Given the description of an element on the screen output the (x, y) to click on. 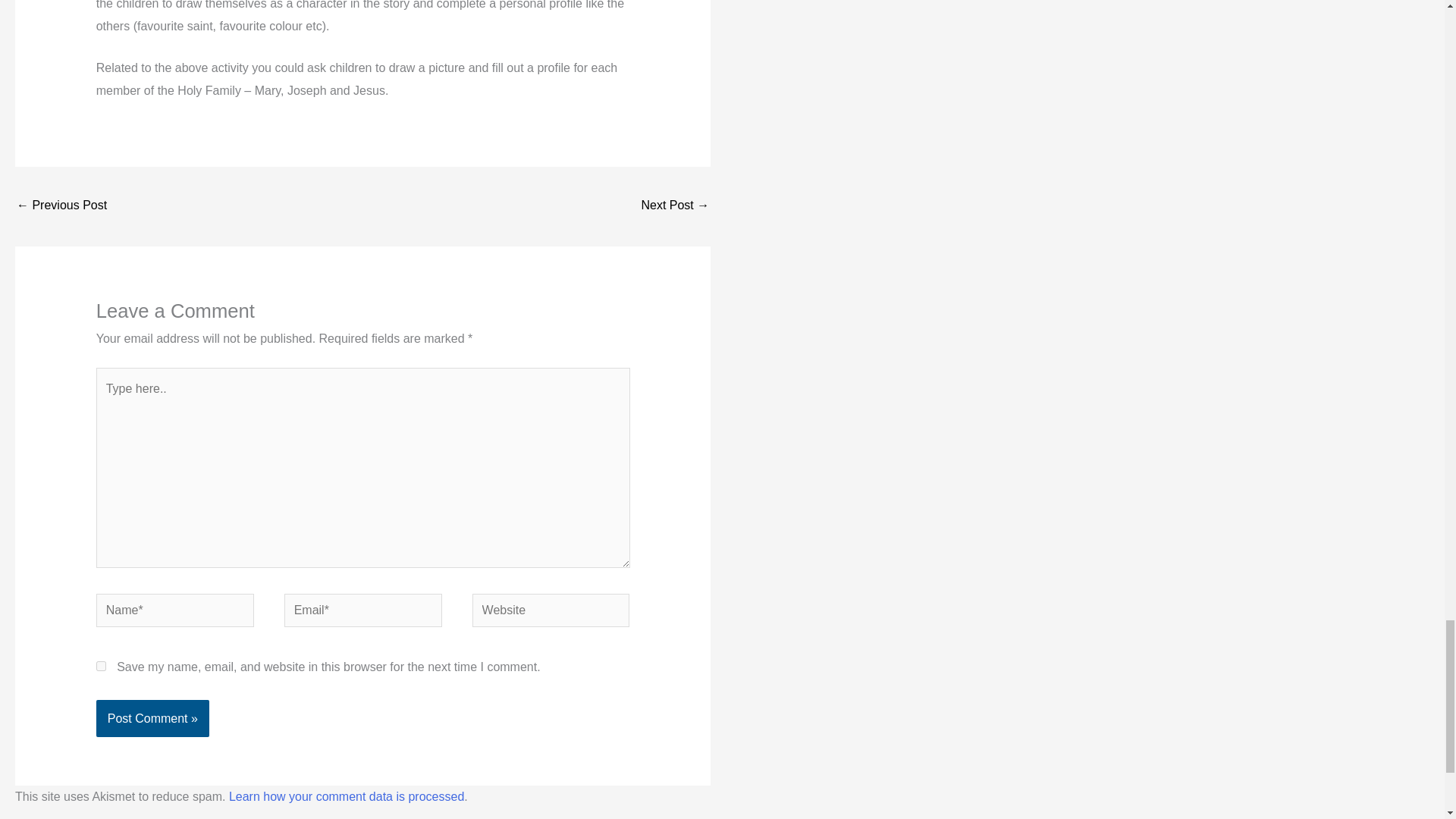
Rosa, Sola (674, 206)
Learn how your comment data is processed (346, 796)
yes (101, 665)
Shepherds to the Rescue by Sister Maria Grace Dateno (61, 206)
